Given the description of an element on the screen output the (x, y) to click on. 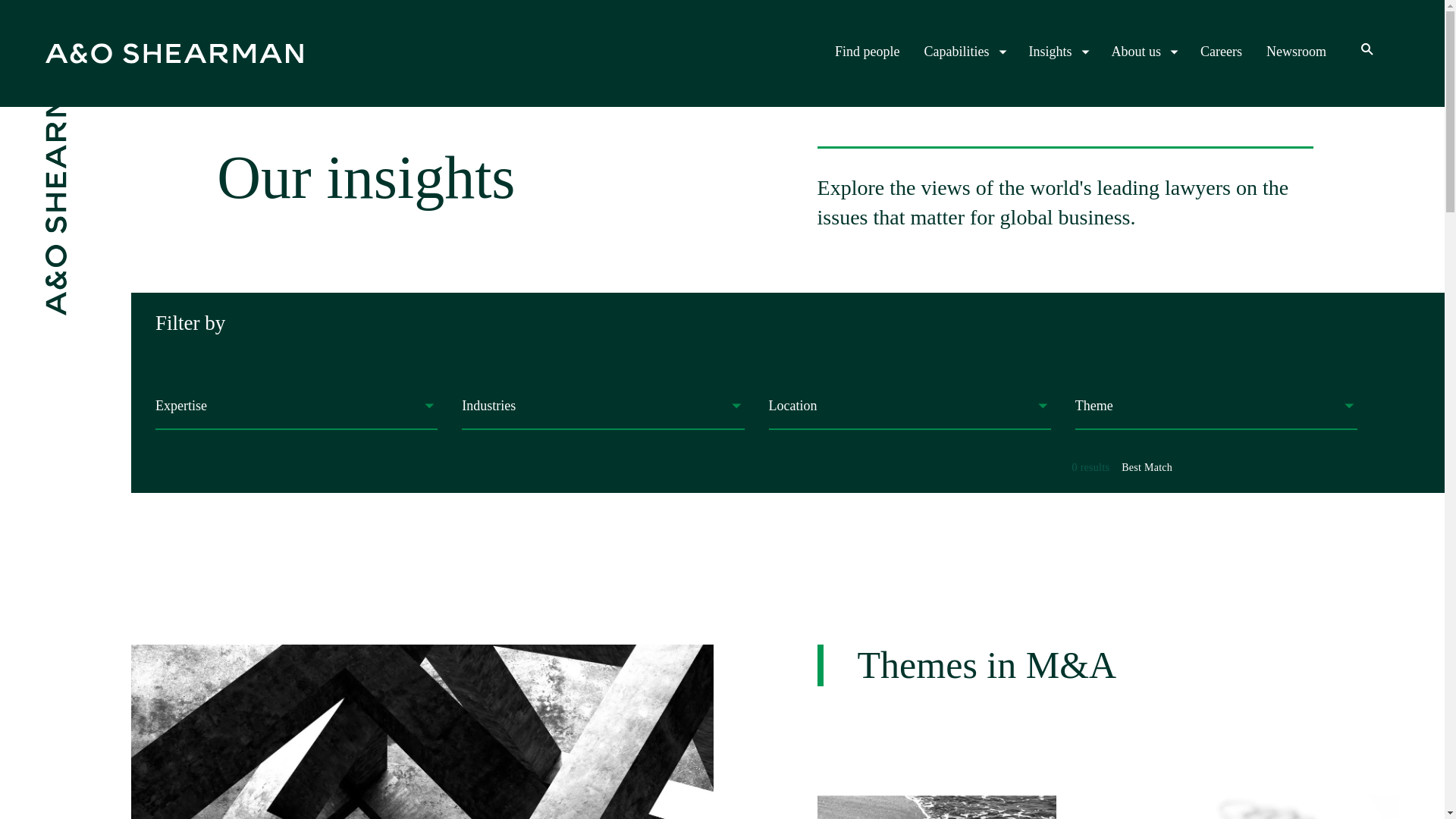
Newsroom (1296, 51)
Careers (1220, 51)
Insights (1056, 51)
Capabilities (964, 51)
About us (1144, 51)
Find people (866, 51)
